Given the description of an element on the screen output the (x, y) to click on. 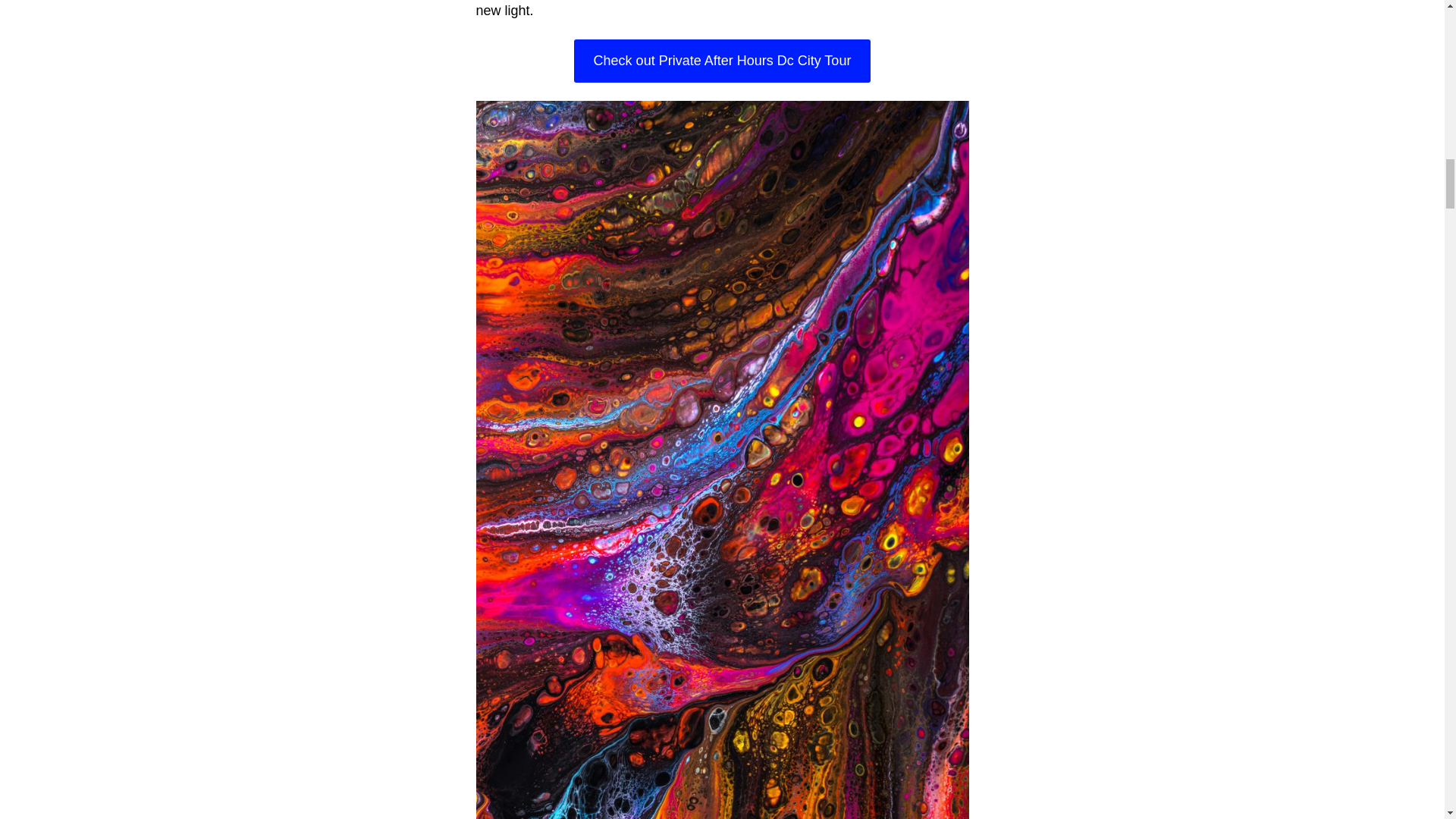
Check out Private After Hours Dc City Tour (721, 60)
